Given the description of an element on the screen output the (x, y) to click on. 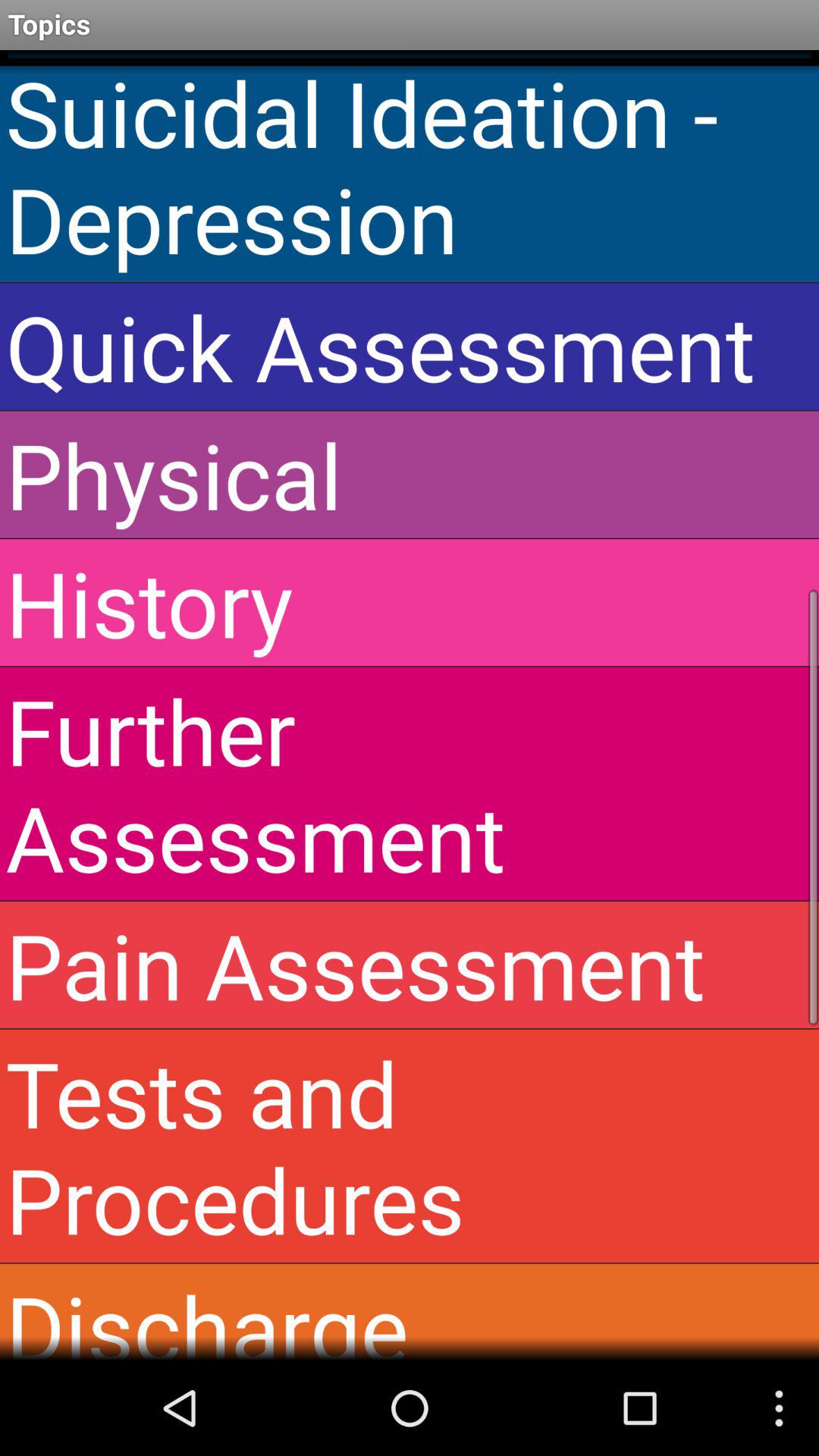
press the icon above the quick assessment item (409, 166)
